Given the description of an element on the screen output the (x, y) to click on. 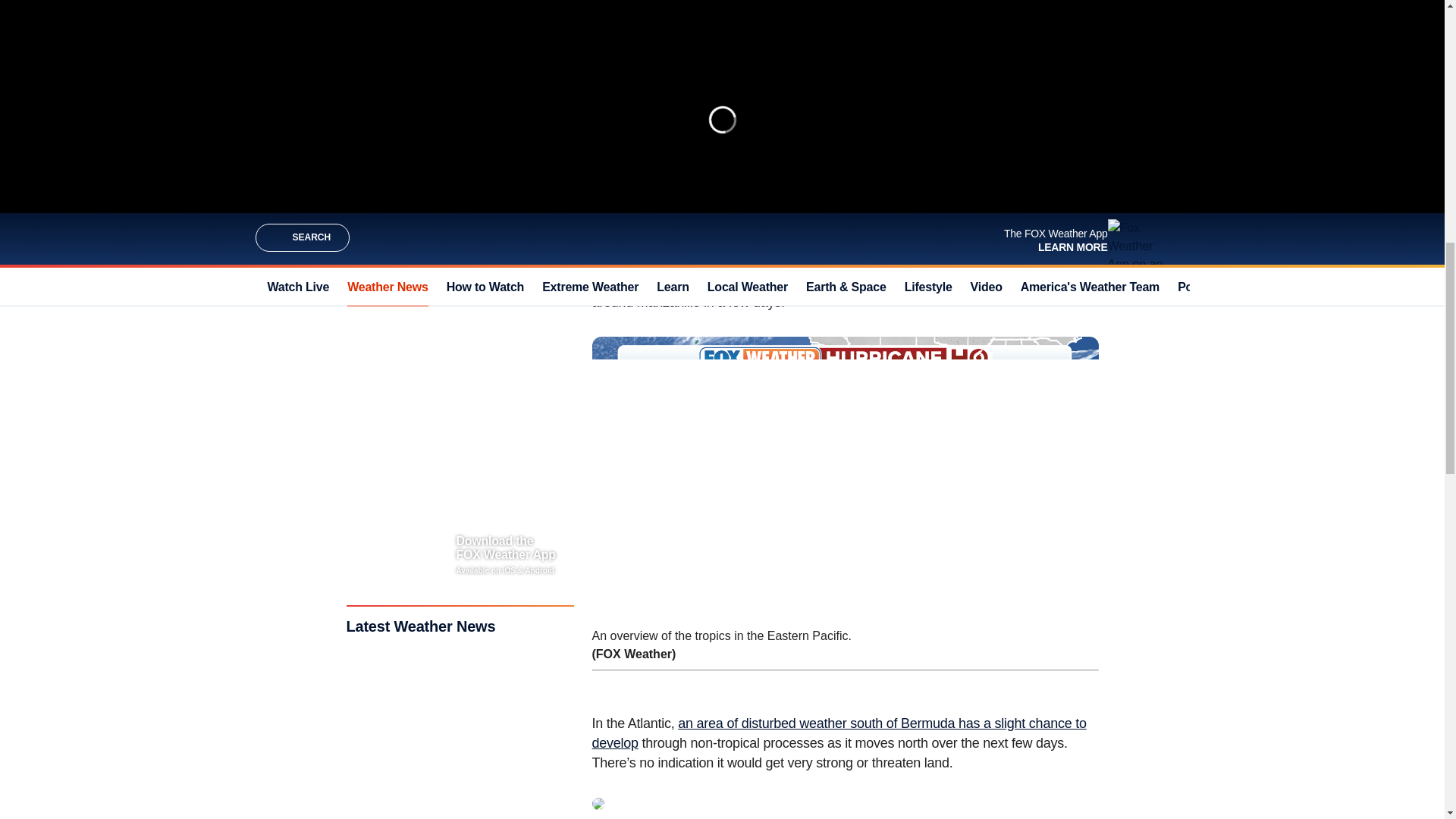
Hurricane Adrian (640, 242)
a second system is organizing (755, 282)
